Given the description of an element on the screen output the (x, y) to click on. 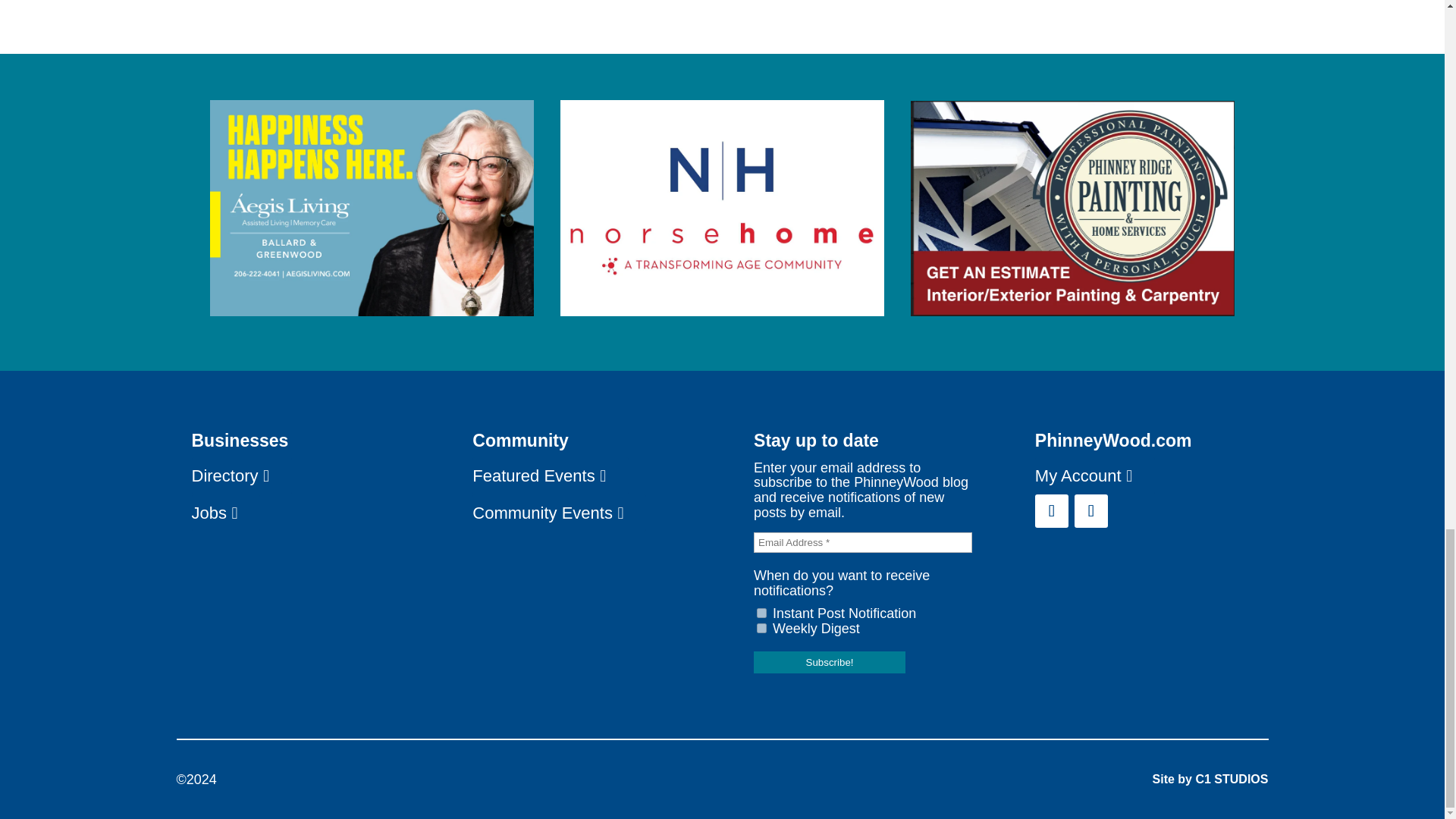
Follow on Facebook (1051, 510)
Email Address (863, 542)
Subscribe! (829, 662)
4 (762, 613)
3 (762, 628)
Follow on X (1091, 510)
